Given the description of an element on the screen output the (x, y) to click on. 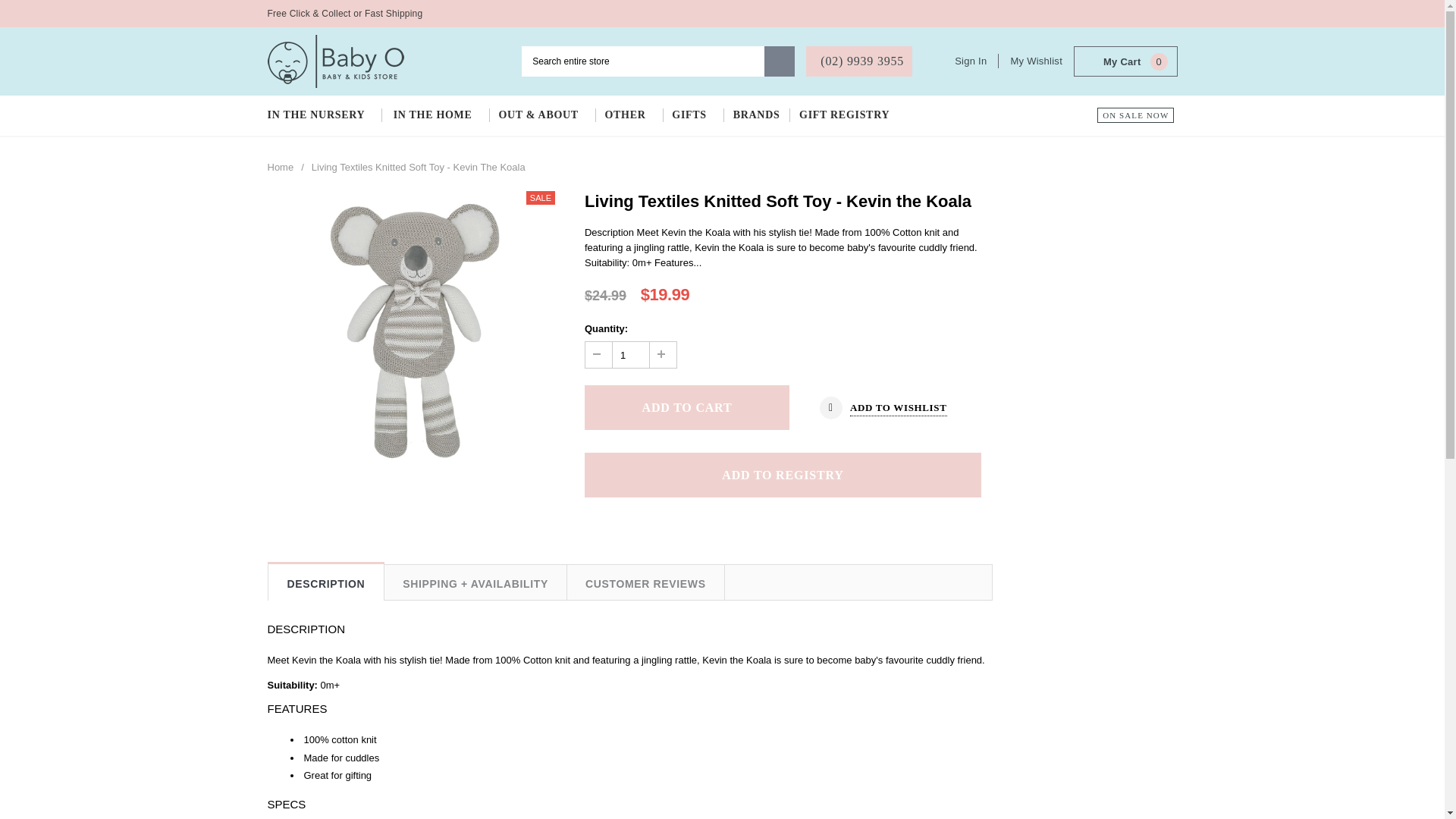
BRANDS Element type: text (756, 115)
SHIPPING + AVAILABILITY Element type: text (475, 581)
ADD TO WISHLIST Element type: text (883, 407)
GIFT REGISTRY Element type: text (847, 115)
Home Element type: text (279, 167)
ON SALE NOW Element type: text (1135, 114)
IN THE HOME Element type: text (435, 115)
OTHER Element type: text (627, 115)
GIFTS Element type: text (692, 115)
IN THE NURSERY Element type: text (324, 115)
My Cart
0 Element type: text (1125, 61)
CUSTOMER REVIEWS Element type: text (645, 581)
My Wishlist Element type: text (1036, 60)
Add to Cart Element type: text (686, 407)
Sign In Element type: text (976, 60)
OUT & ABOUT Element type: text (541, 115)
(02) 9939 3955 Element type: text (859, 61)
DESCRIPTION Element type: text (326, 582)
